Given the description of an element on the screen output the (x, y) to click on. 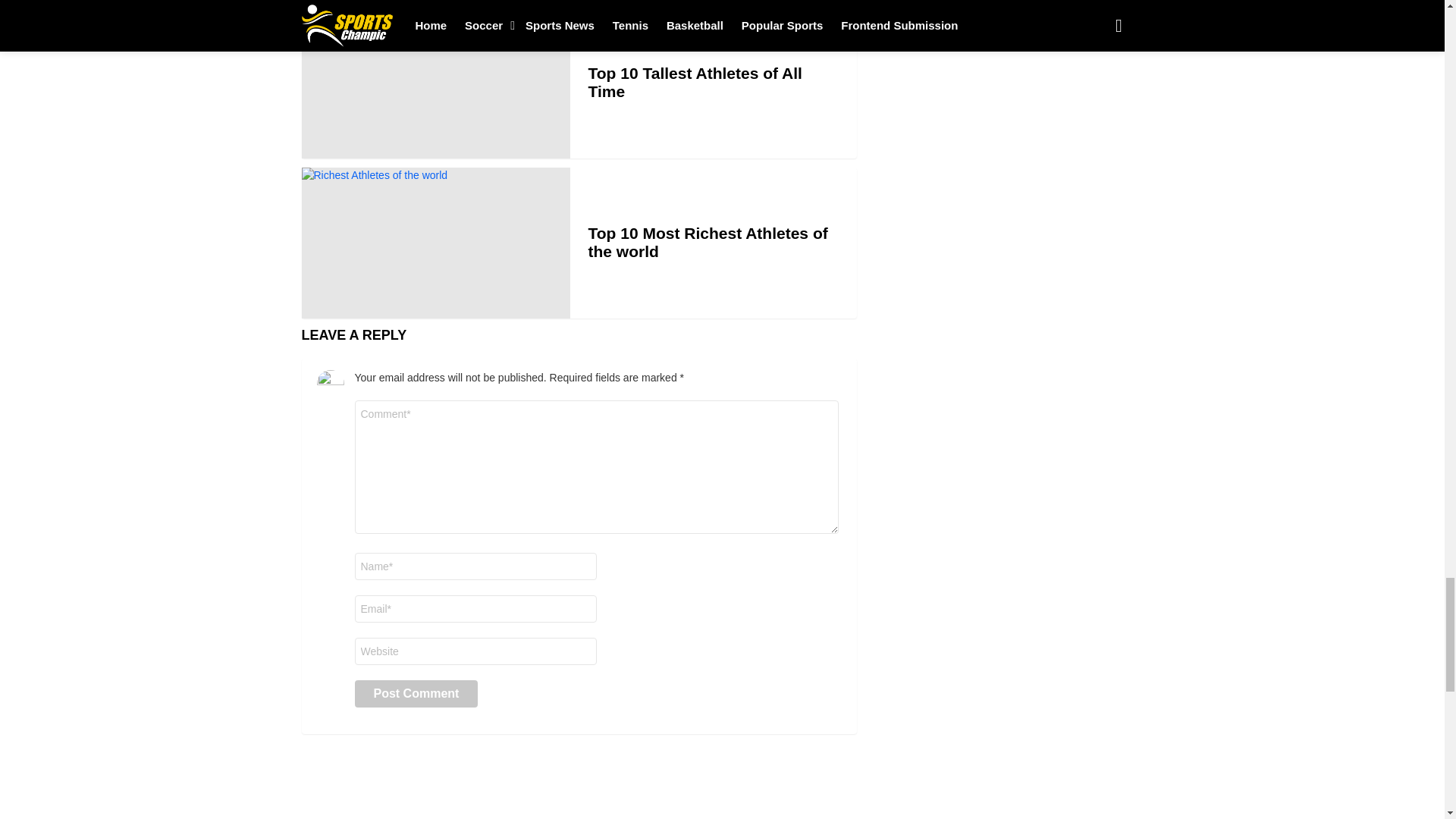
Post Comment (417, 693)
